Given the description of an element on the screen output the (x, y) to click on. 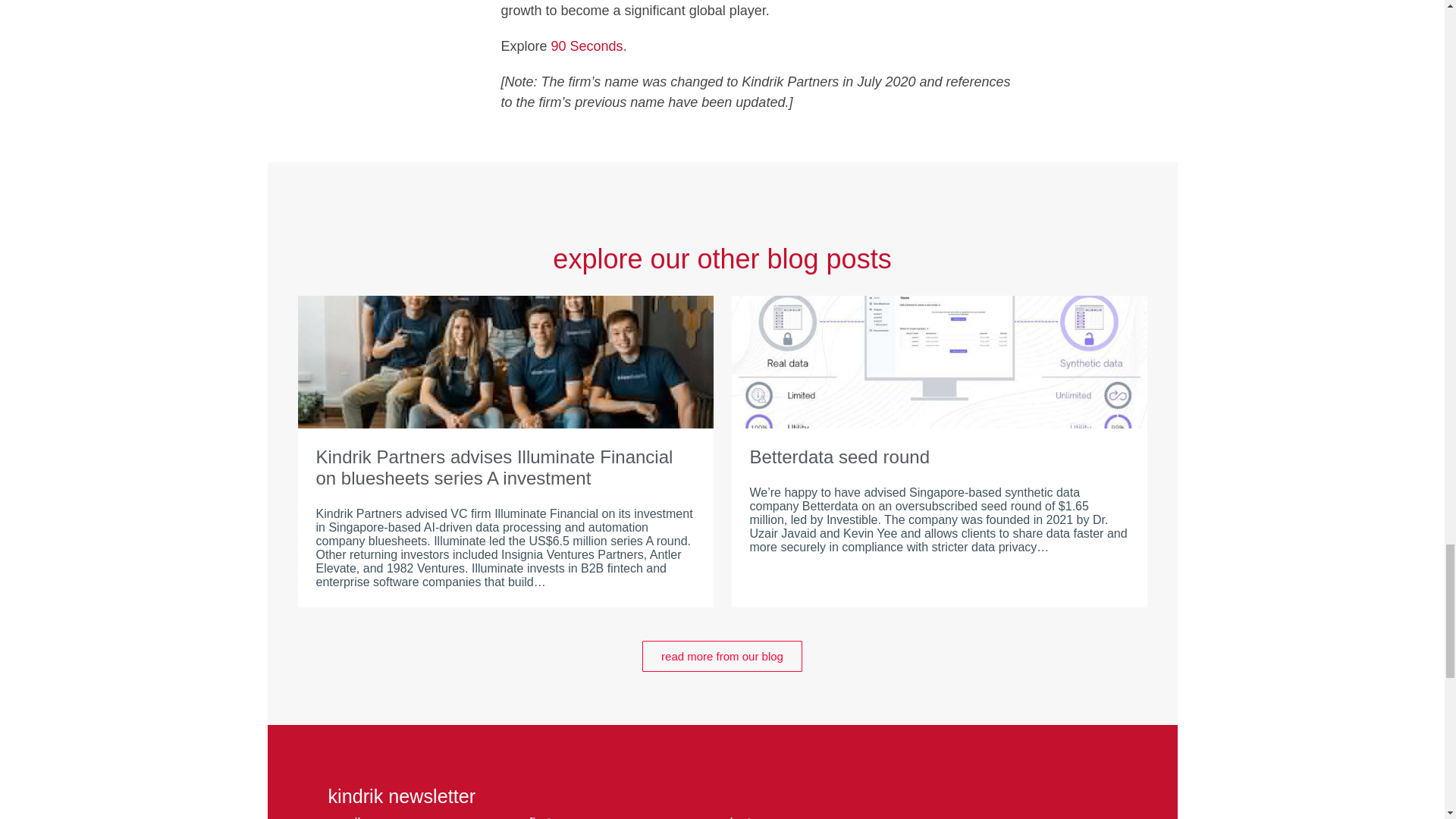
Betterdata seed round (938, 456)
90 Seconds (587, 46)
read more from our blog (722, 655)
